Given the description of an element on the screen output the (x, y) to click on. 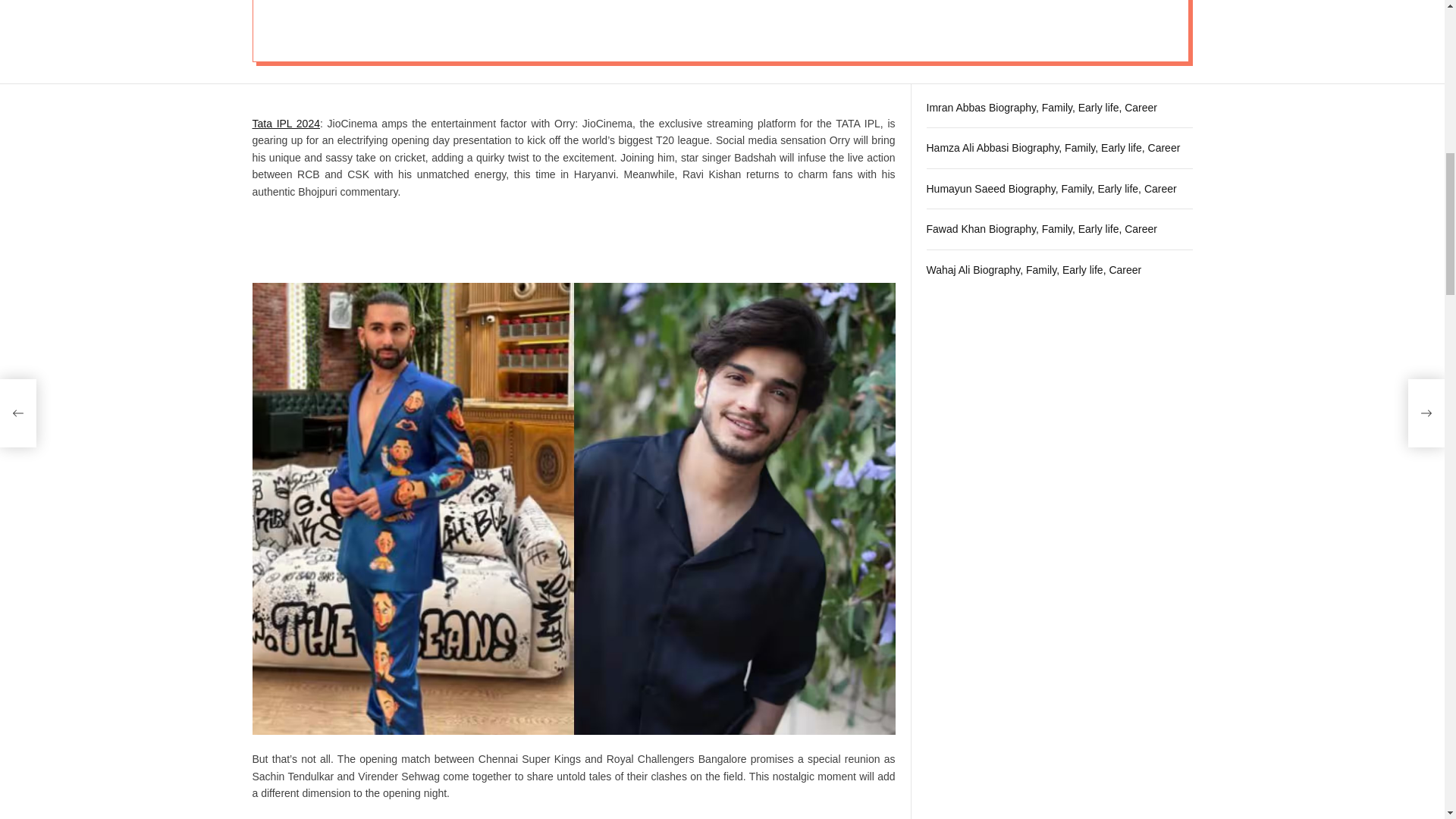
Tata IPL 2024 (284, 123)
